Given the description of an element on the screen output the (x, y) to click on. 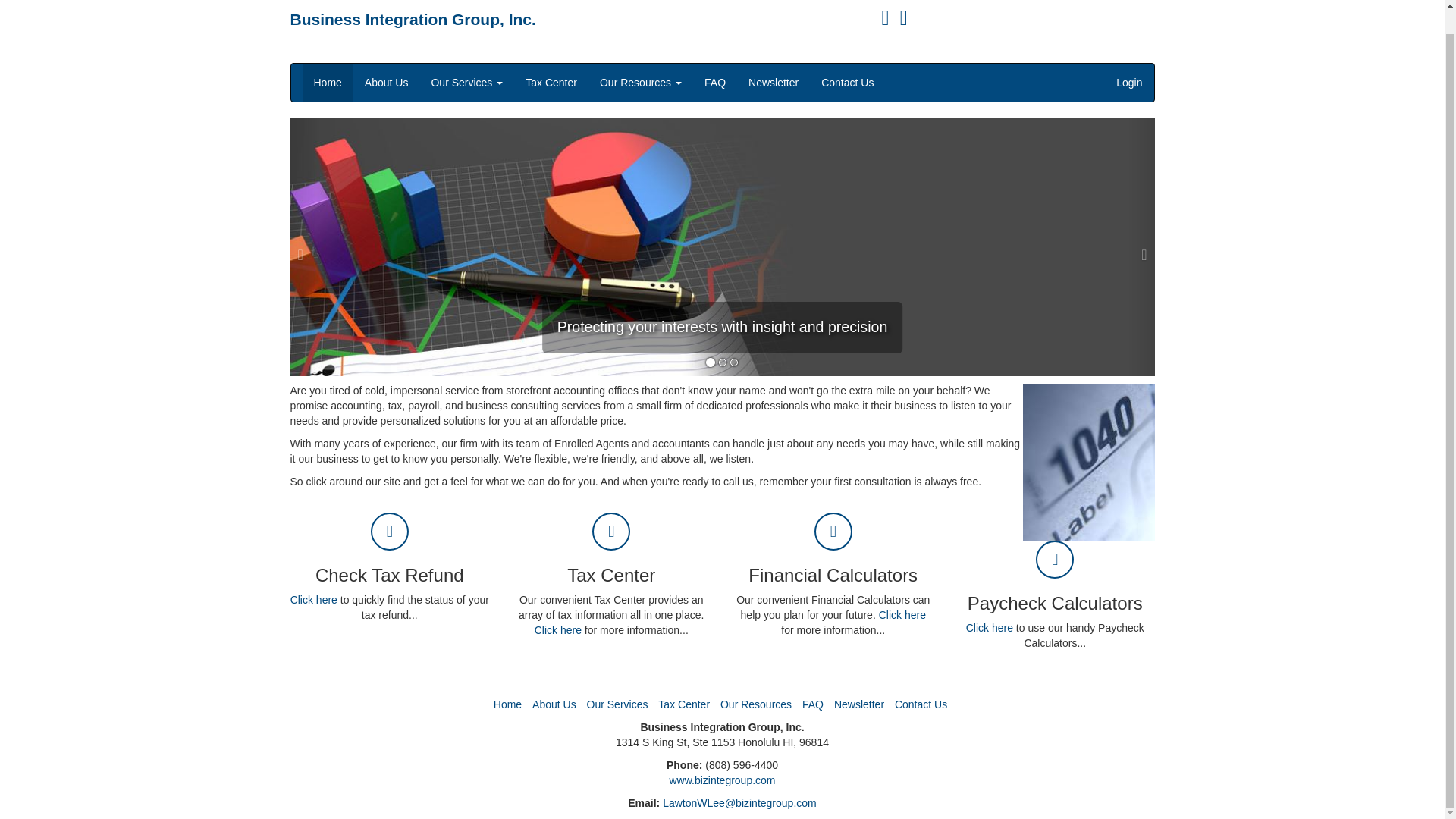
Tax Center (684, 704)
Home (326, 82)
Newsletter (772, 82)
Click here (989, 627)
Home page (412, 18)
Contact Us (847, 82)
Click here (902, 614)
www.bizintegroup.com (721, 779)
FAQ (813, 704)
About Us (554, 704)
